Given the description of an element on the screen output the (x, y) to click on. 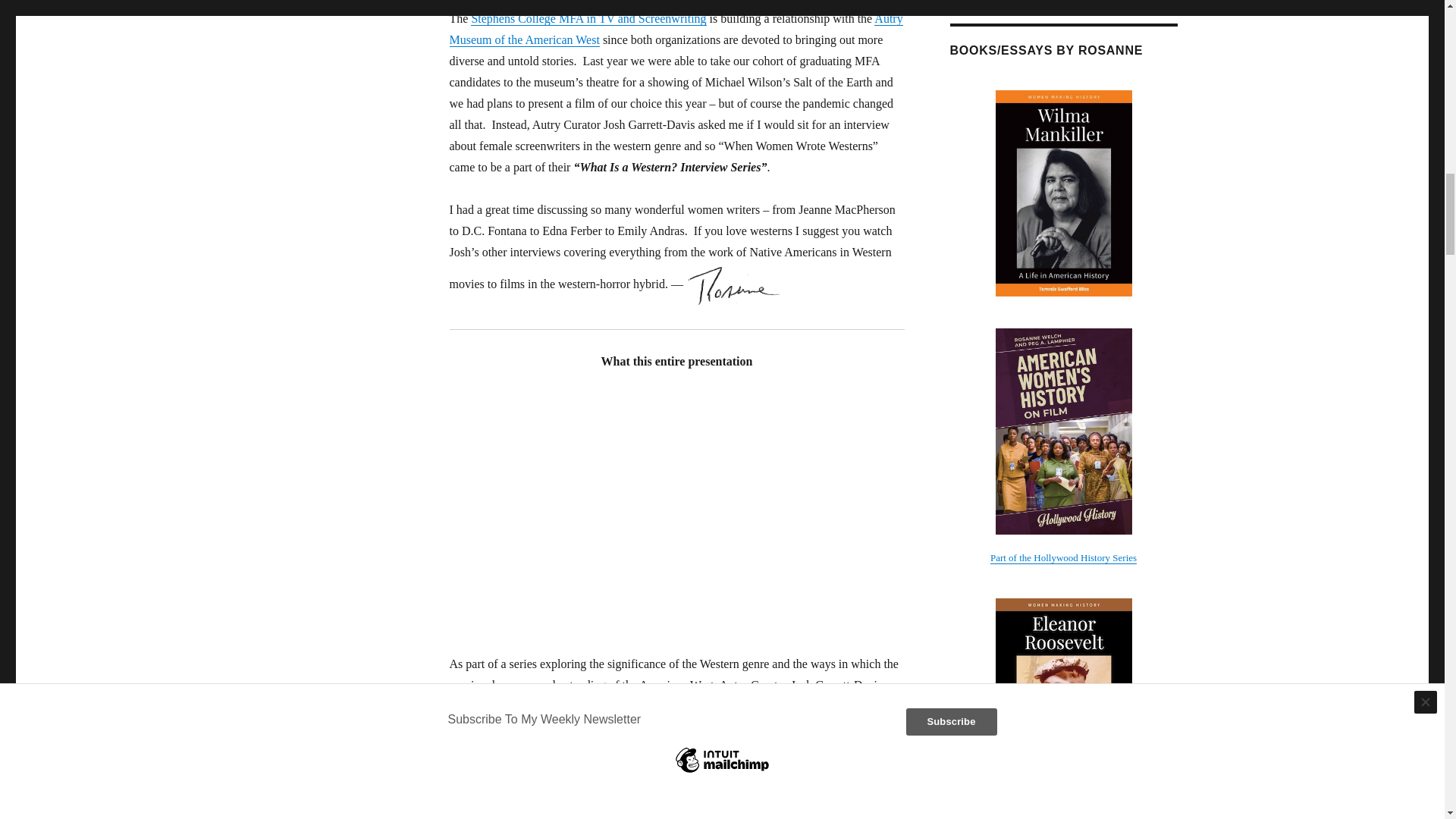
Play in new window (542, 812)
Download (626, 812)
Autry Museum of the American West (675, 28)
Download (626, 812)
Stephens College MFA in TV and Screenwriting (588, 18)
Play in new window (542, 812)
